Given the description of an element on the screen output the (x, y) to click on. 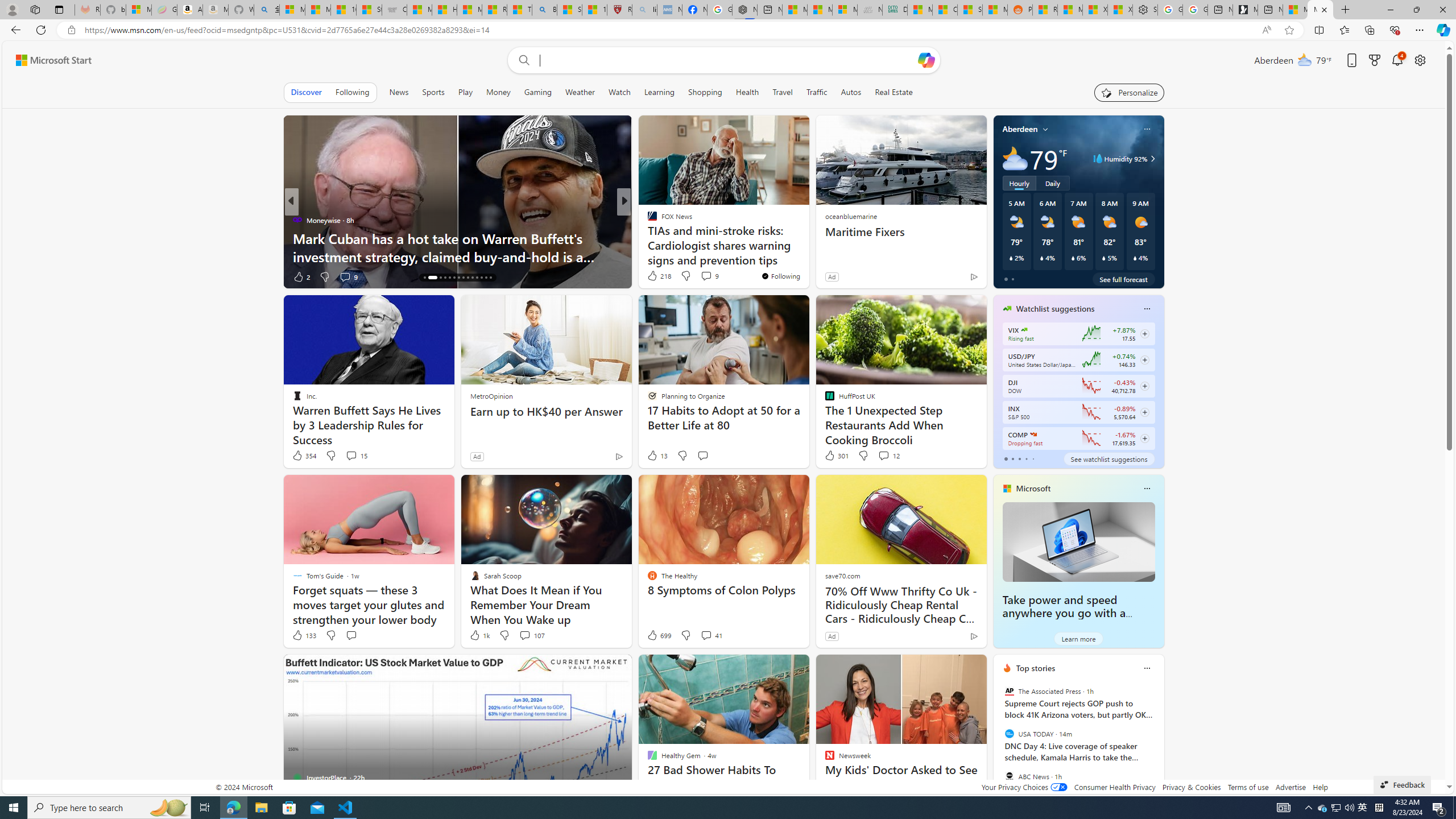
View comments 15 Comment (355, 455)
AutomationID: tab-20 (454, 277)
Learn more (1078, 638)
ABC News (1008, 775)
Watchlist suggestions (1055, 308)
View comments 9 Comment (705, 275)
